Given the description of an element on the screen output the (x, y) to click on. 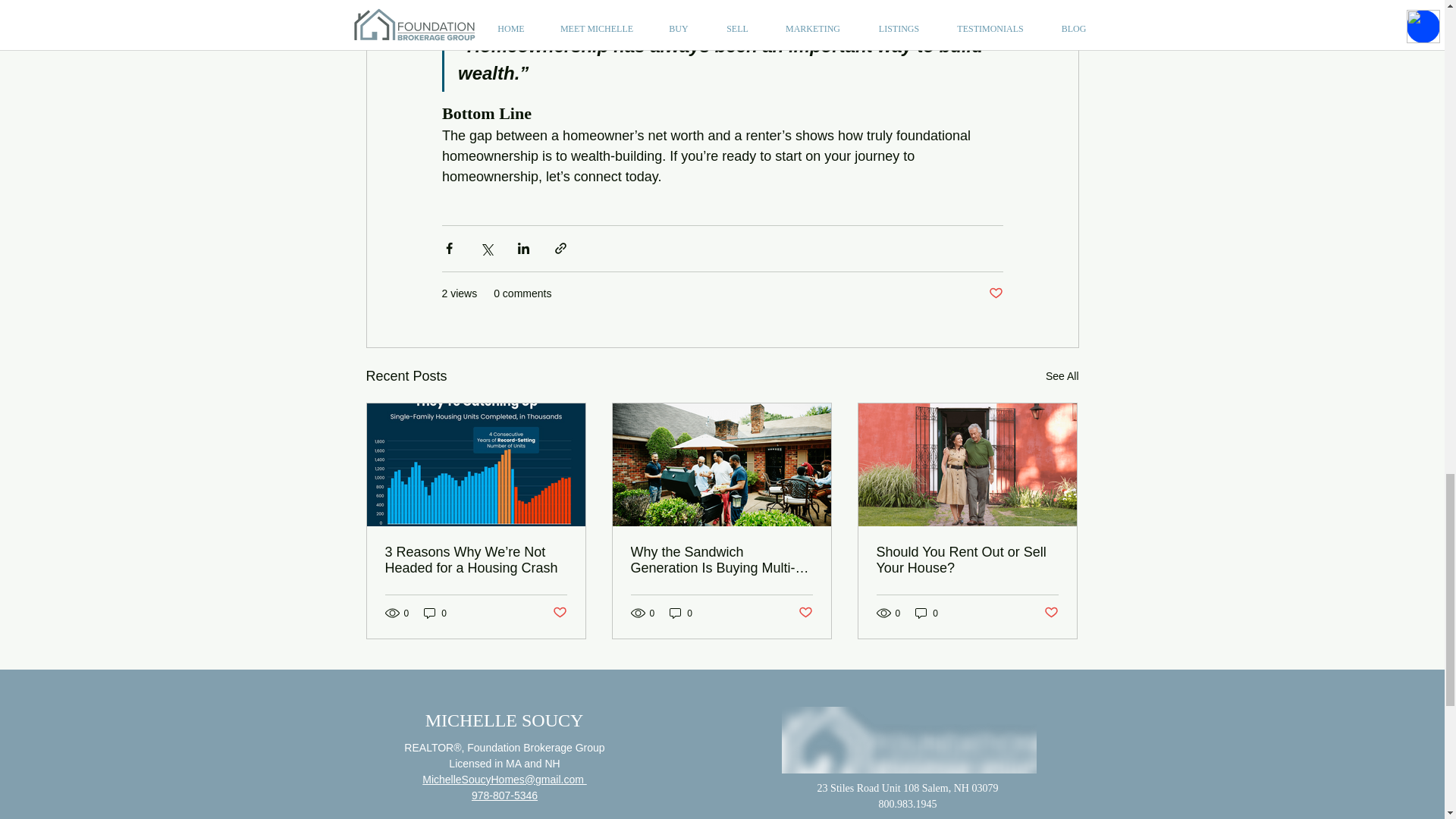
0 (681, 612)
Post not marked as liked (995, 293)
0 (435, 612)
Post not marked as liked (1050, 612)
978-807-5346 (504, 795)
See All (1061, 376)
Should You Rent Out or Sell Your House? (967, 560)
simply (617, 6)
Post not marked as liked (558, 612)
